Given the description of an element on the screen output the (x, y) to click on. 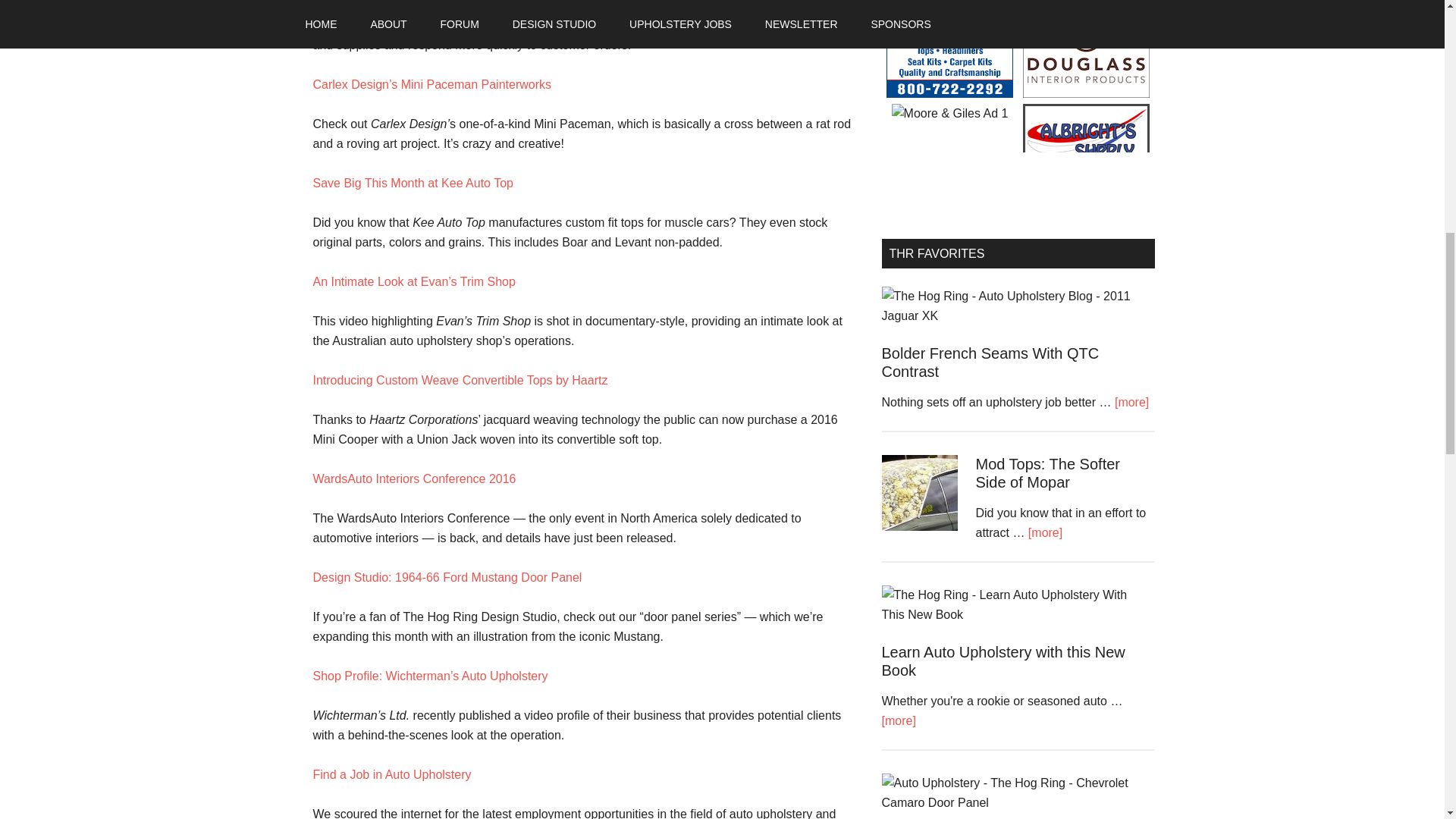
Find a Job in Auto Upholstery (391, 774)
WardsAuto Interiors Conference 2016 (414, 478)
Save Big This Month at Kee Auto Top (412, 182)
Design Studio: 1964-66 Ford Mustang Door Panel (446, 576)
Introducing Custom Weave Convertible Tops by Haartz (460, 379)
